Given the description of an element on the screen output the (x, y) to click on. 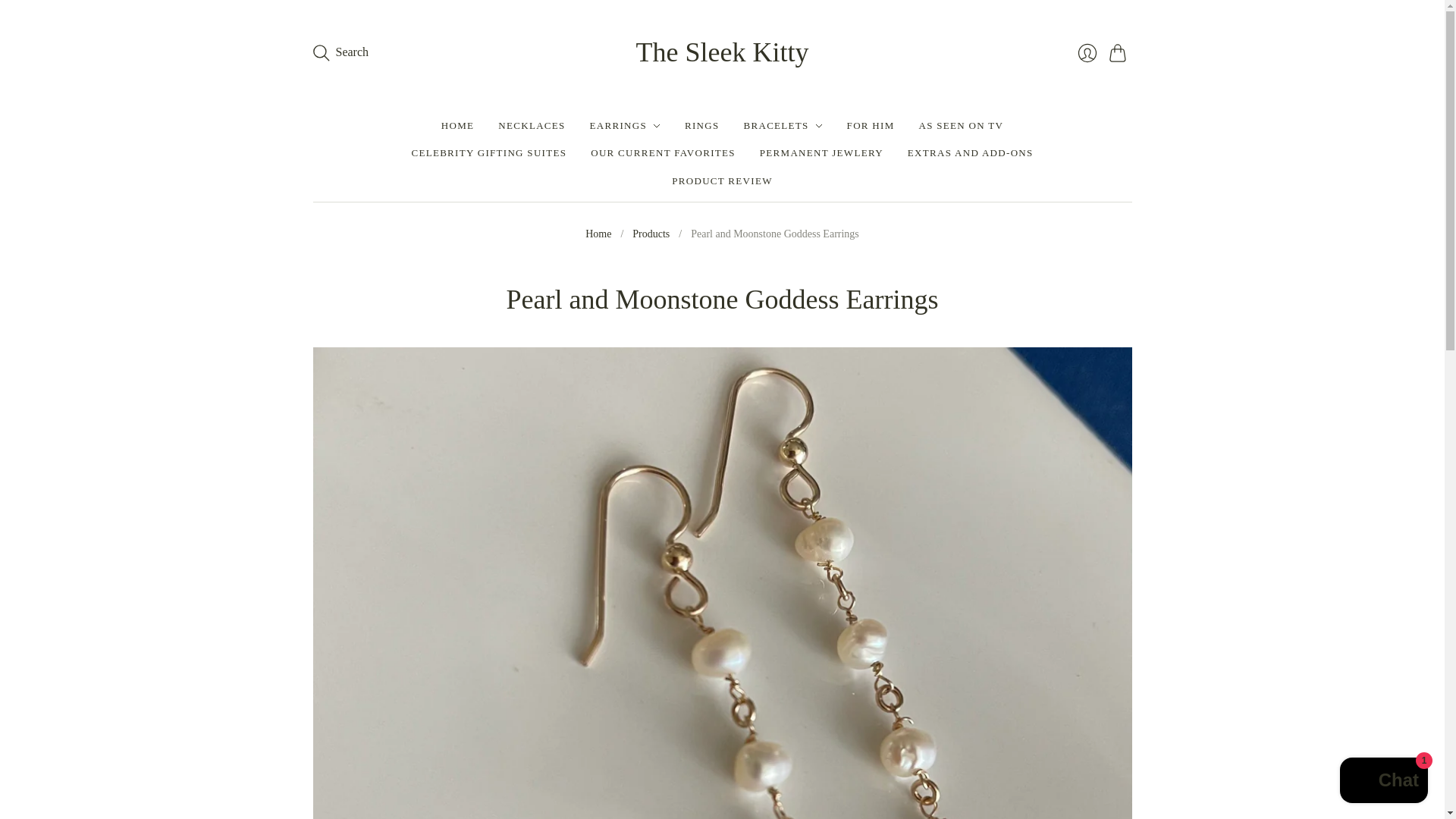
FOR HIM (871, 125)
HOME (457, 125)
Search (339, 51)
Shopify online store chat (1383, 781)
Cart (1119, 52)
RINGS (701, 125)
PERMANENT JEWLERY (821, 153)
NECKLACES (530, 125)
EXTRAS AND ADD-ONS (970, 153)
Login (1086, 51)
AS SEEN ON TV (961, 125)
OUR CURRENT FAVORITES (663, 153)
The Sleek Kitty (722, 51)
PRODUCT REVIEW (721, 180)
CELEBRITY GIFTING SUITES (488, 153)
